Given the description of an element on the screen output the (x, y) to click on. 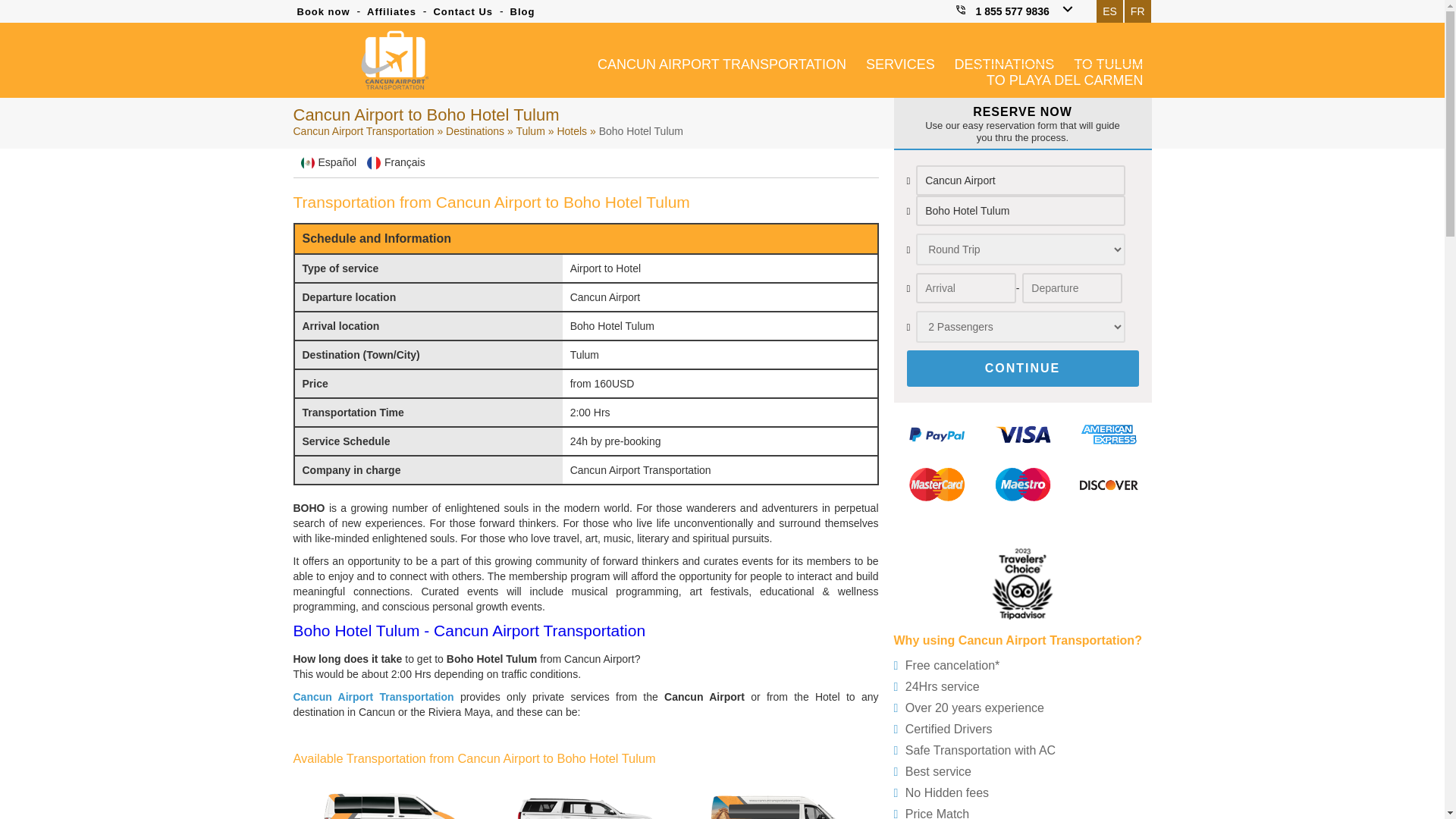
Cancun Airport Transportation Contact (462, 11)
Book your Private Cancun Airport Transportation (323, 11)
Boho Hotel Tulum - Cancun Airport Transportation (468, 630)
TO PLAYA DEL CARMEN (1064, 78)
Cancun Airport to Playa del Carmen Transportation (1064, 78)
Cancun Airpor Transportation (721, 62)
Cancun Airport to Tulum Transportation (1108, 62)
Affiliates (391, 11)
Cancun Airport Transportation to Tulum (529, 131)
Tulum (529, 131)
Cancun Airport Transportation (394, 60)
Hotels (571, 131)
Cancun Airport Transportation (372, 696)
Cancun Airport (1019, 180)
Transportation from Cancun Airport (474, 131)
